Given the description of an element on the screen output the (x, y) to click on. 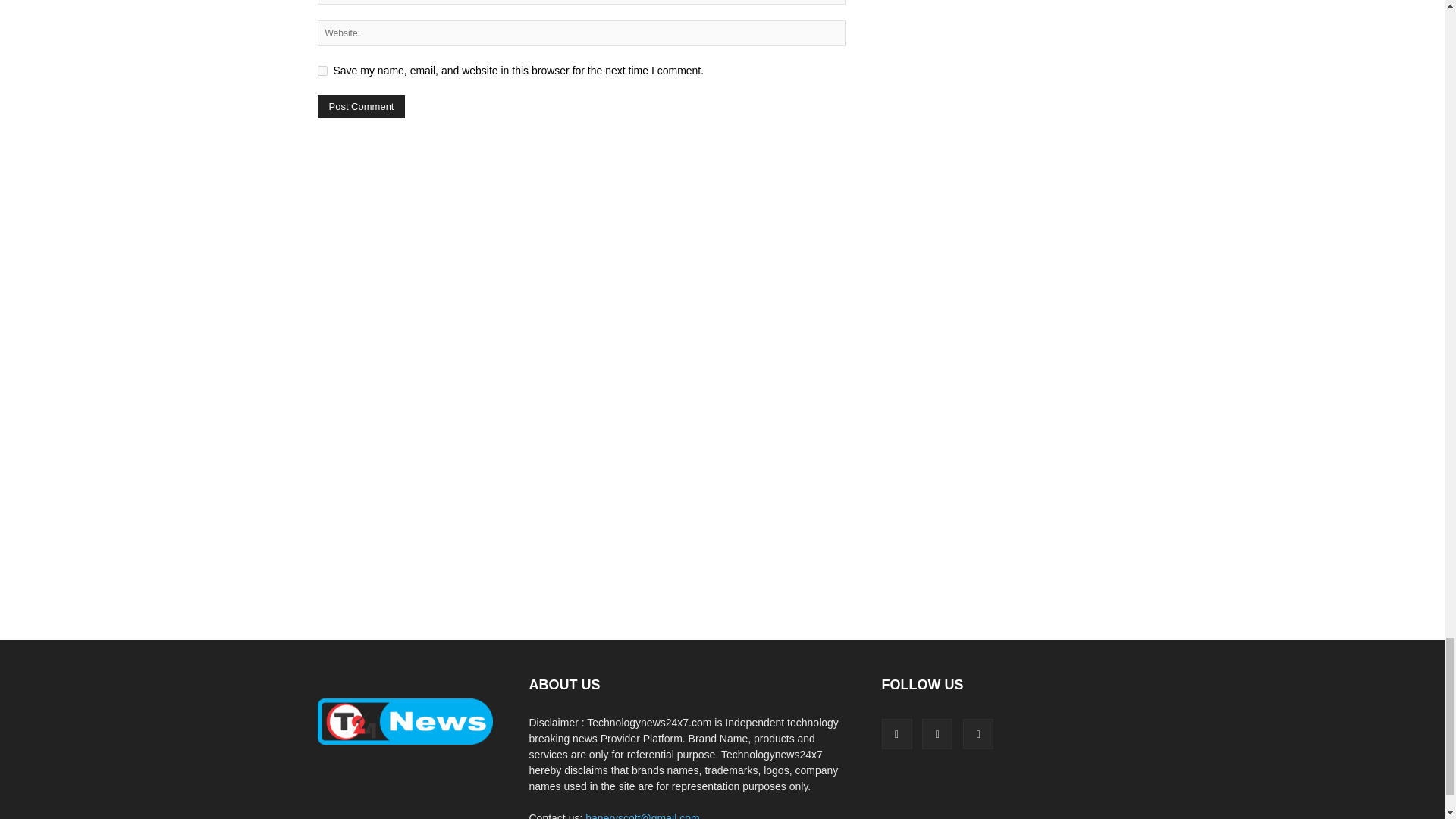
yes (321, 71)
Post Comment (360, 106)
